Given the description of an element on the screen output the (x, y) to click on. 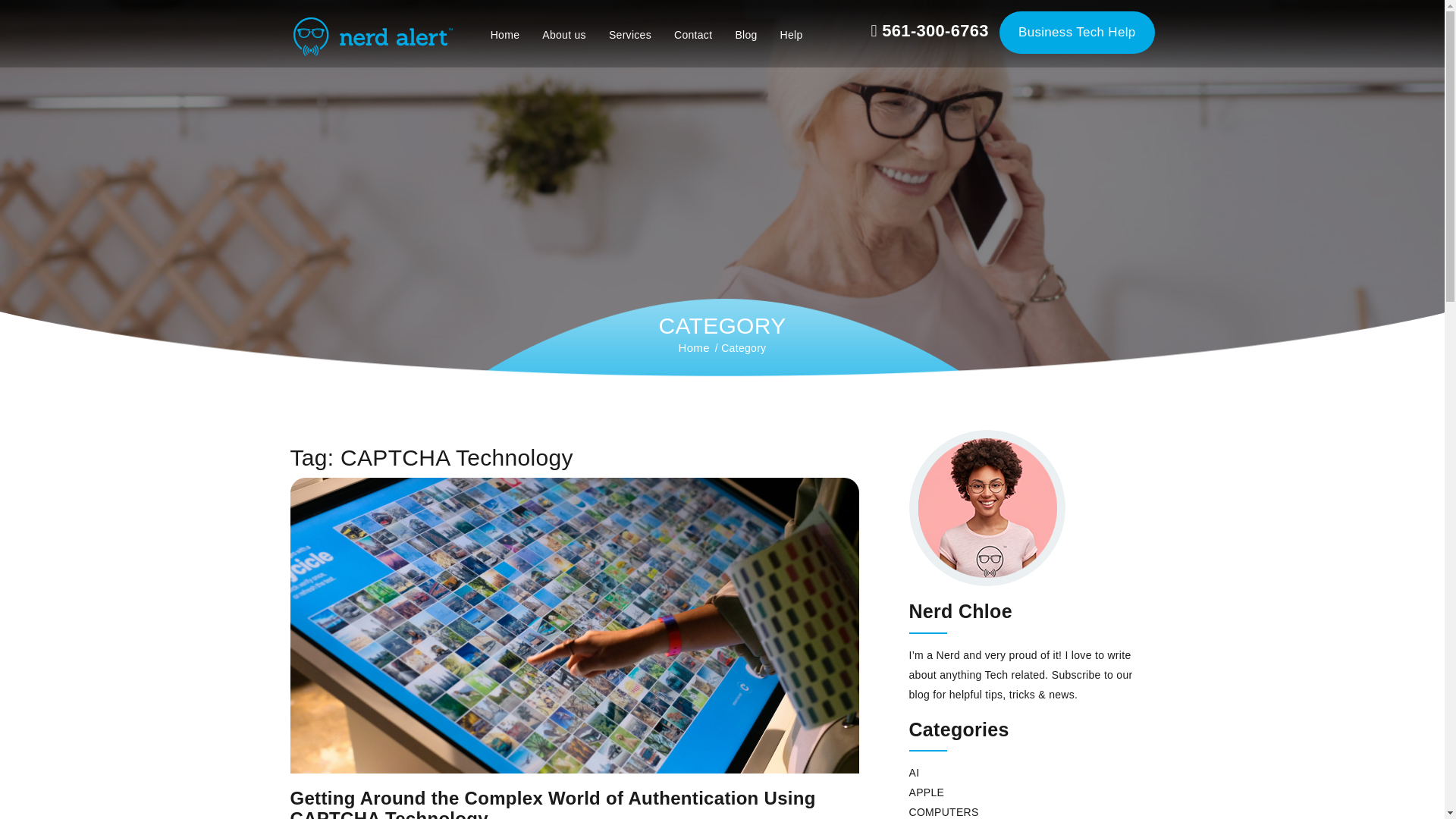
Services (629, 34)
Blog (745, 34)
COMPUTERS (943, 811)
APPLE (925, 792)
Nerd Alert (370, 33)
Help (790, 34)
Home (694, 347)
Contact (692, 34)
Home (505, 34)
About us (563, 34)
Business Tech Help (1076, 32)
561-300-6763 (932, 30)
